Given the description of an element on the screen output the (x, y) to click on. 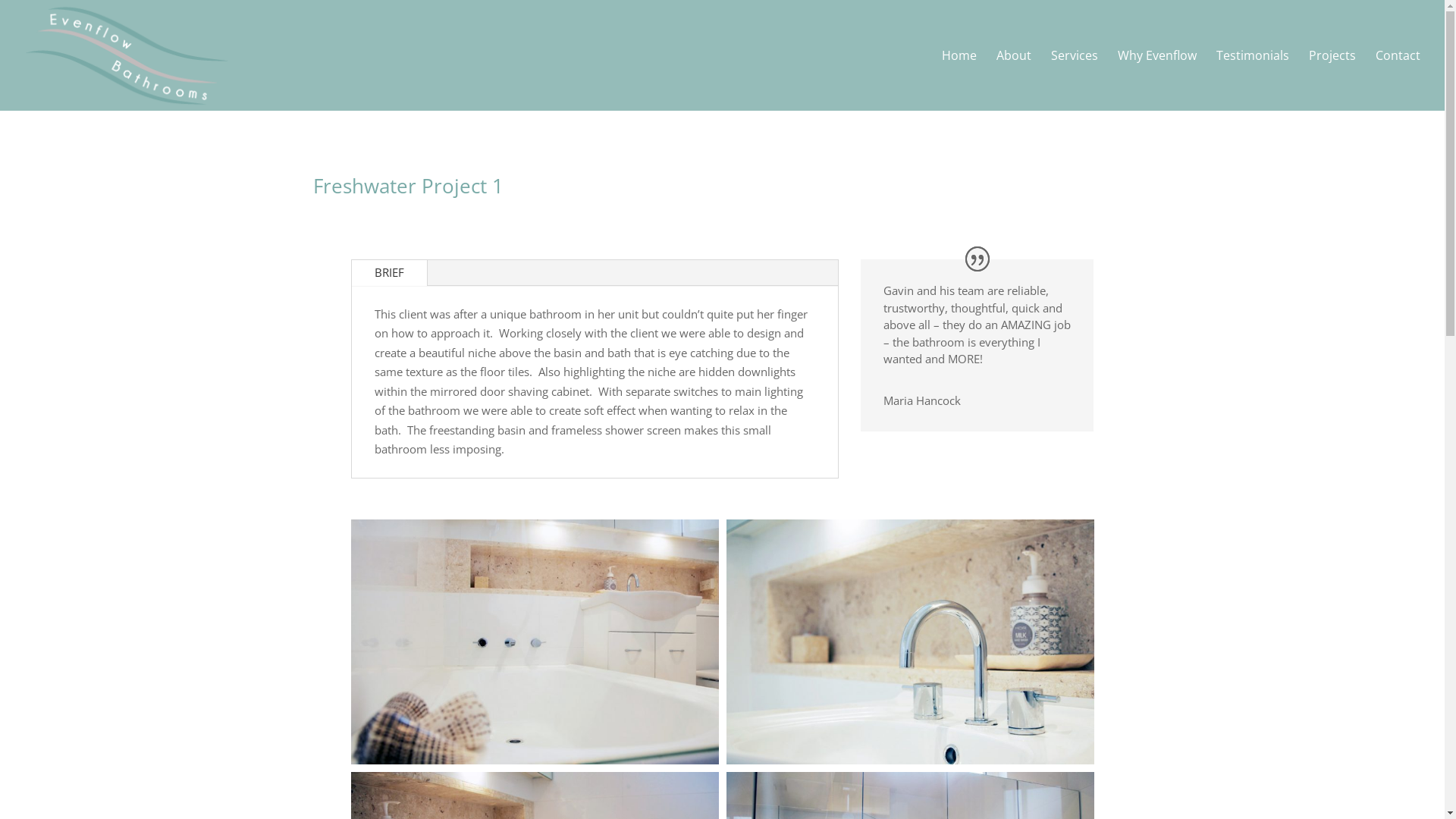
BRIEF Element type: text (388, 272)
Contact Element type: text (1397, 80)
About Element type: text (1013, 80)
Projects Element type: text (1331, 80)
Home Element type: text (958, 80)
Why Evenflow Element type: text (1156, 80)
Services Element type: text (1074, 80)
Testimonials Element type: text (1252, 80)
